Given the description of an element on the screen output the (x, y) to click on. 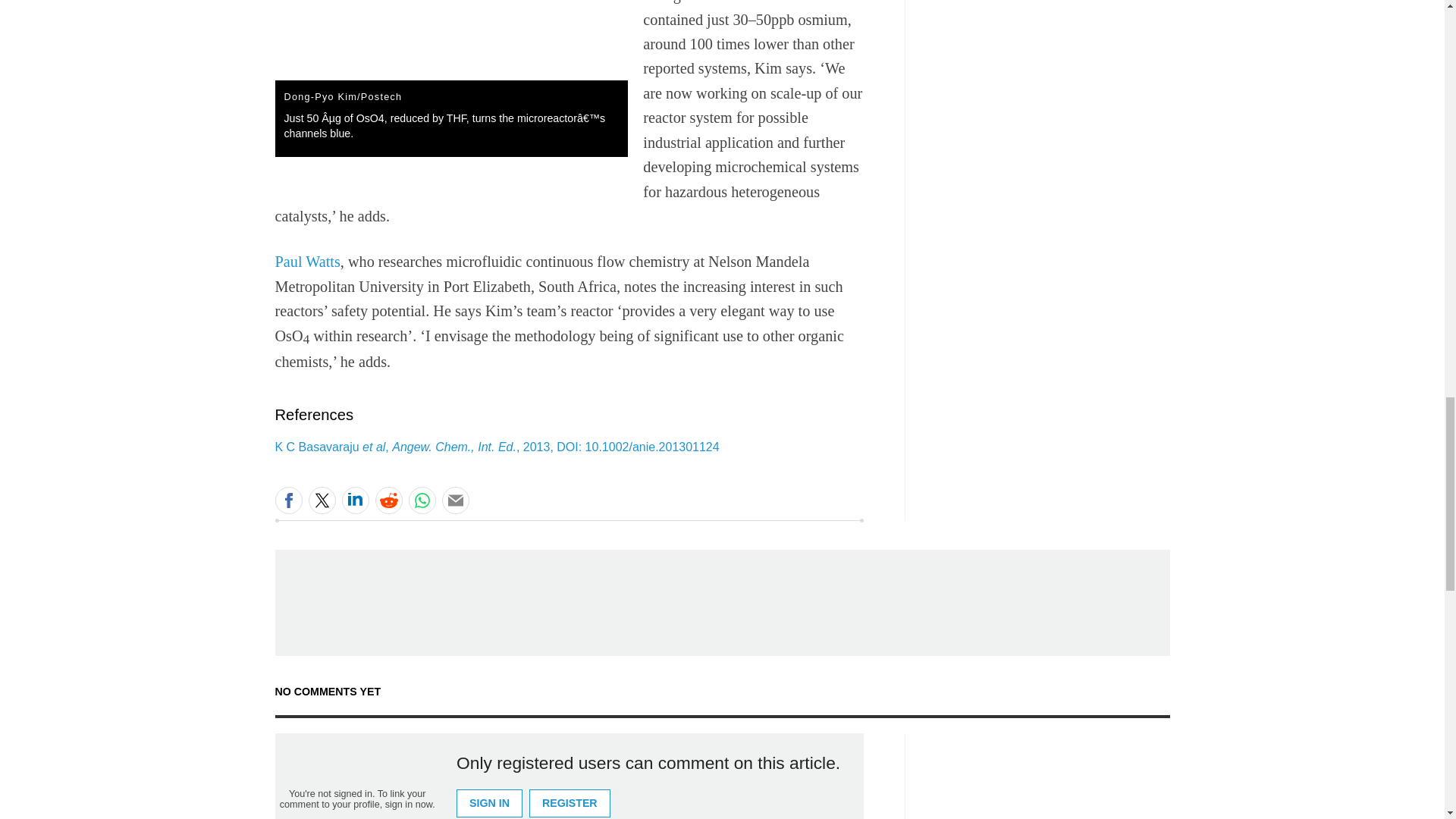
Share this on Facebook (288, 500)
Share this on WhatsApp (421, 500)
Share this by email (454, 500)
Share this on Reddit (387, 500)
Share this on LinkedIn (354, 500)
